Given the description of an element on the screen output the (x, y) to click on. 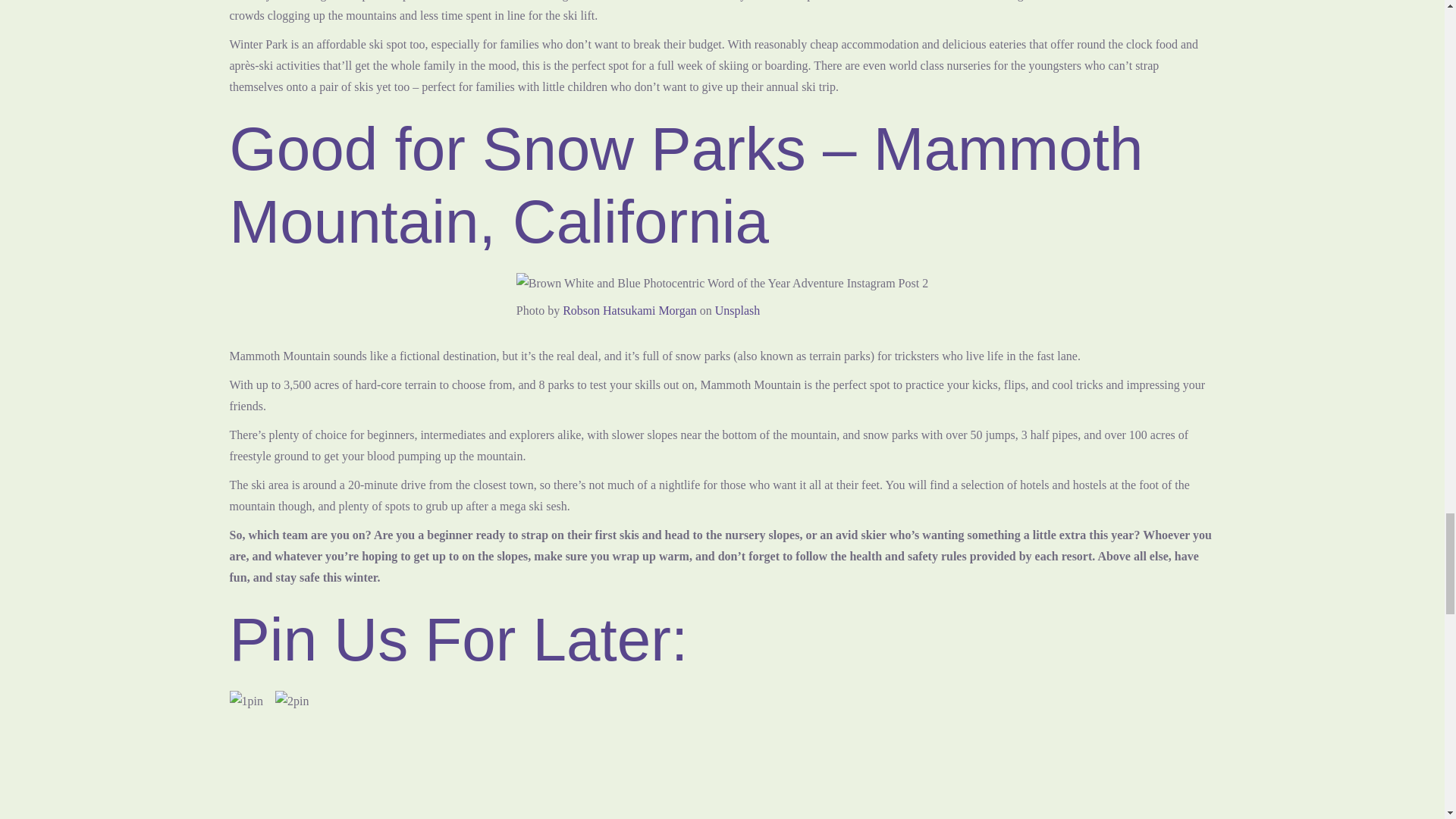
5 of The Best Spots to Ski in the US in 2022 6 (722, 283)
